Given the description of an element on the screen output the (x, y) to click on. 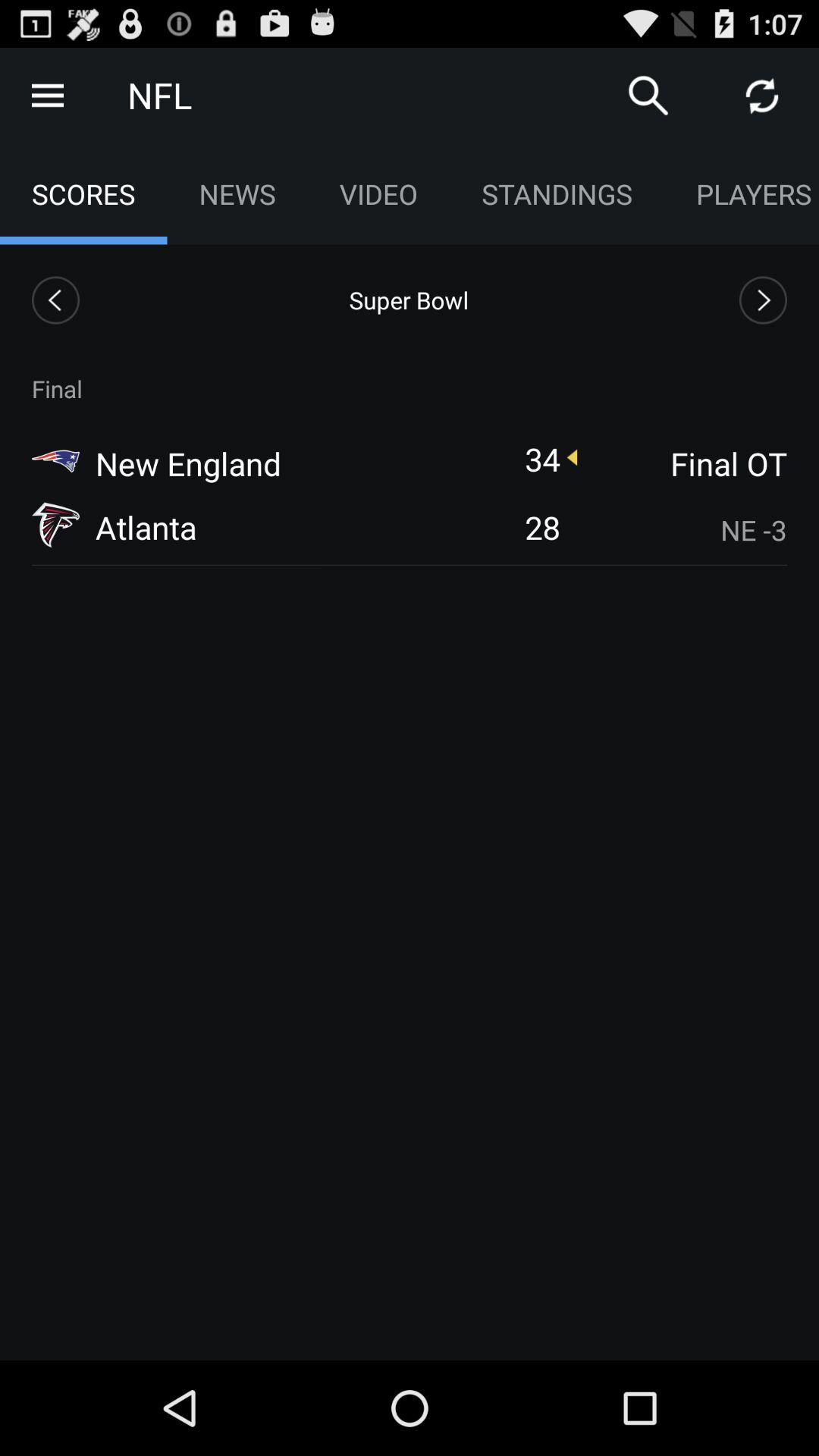
launch app to the right of the 28 item (683, 529)
